Given the description of an element on the screen output the (x, y) to click on. 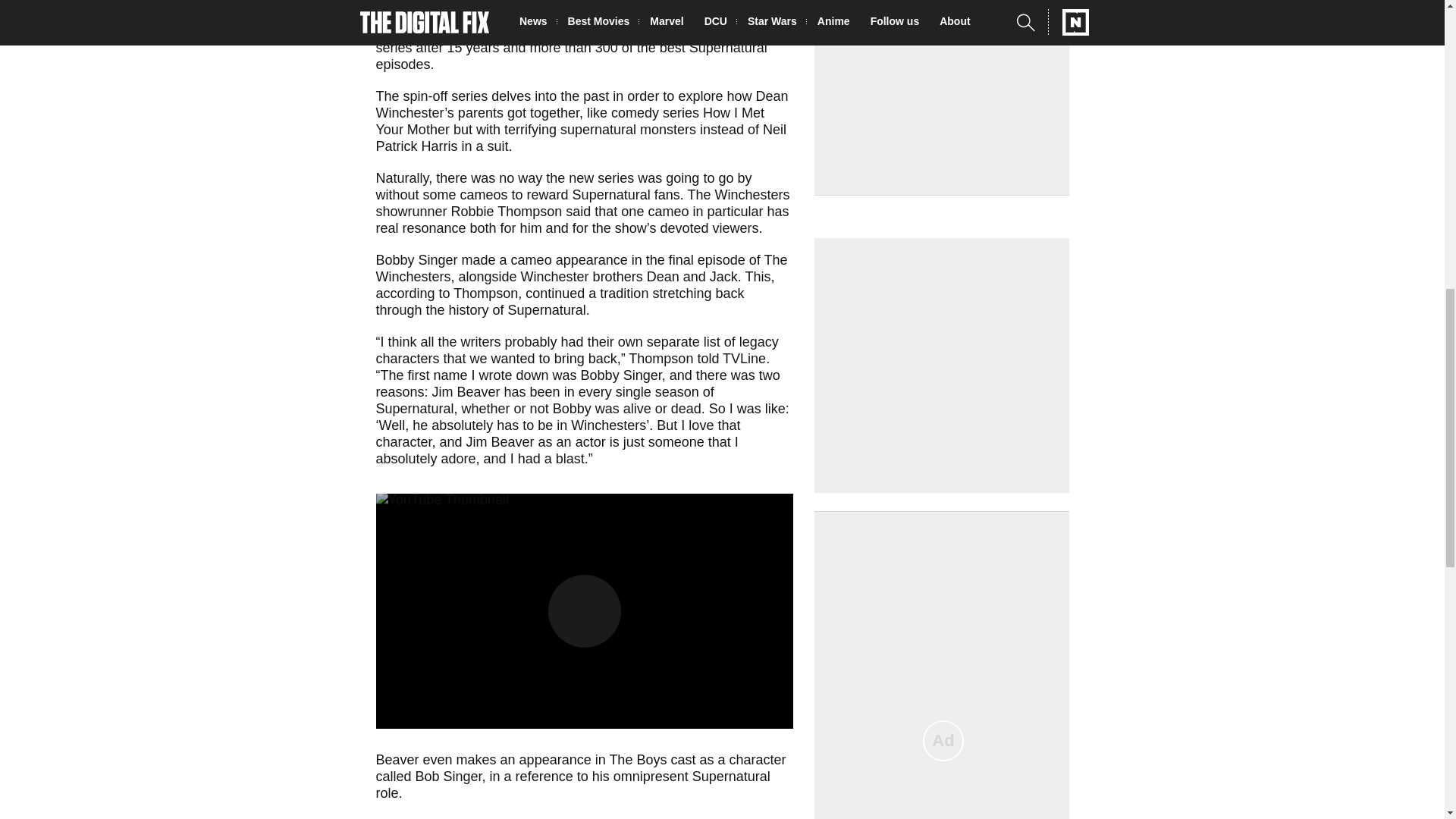
TVLine (743, 358)
TV series (651, 14)
best Supernatural episodes (571, 56)
comedy series (654, 112)
fantasy series (565, 39)
Supernatural (414, 30)
